Given the description of an element on the screen output the (x, y) to click on. 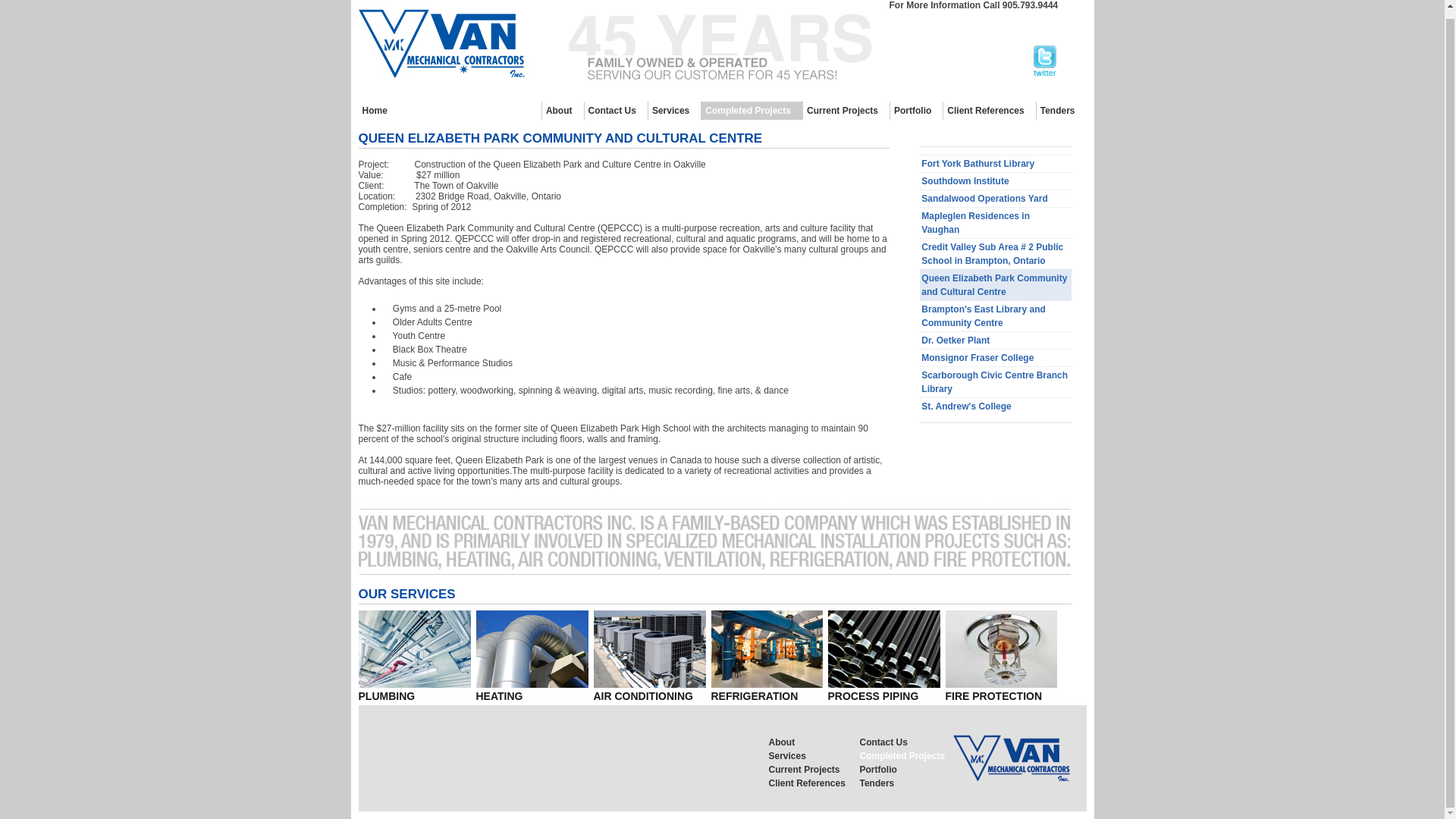
Scarborough Civic Centre Branch Library (995, 381)
Portfolio (915, 110)
Home (377, 110)
About (562, 110)
About (814, 742)
Client References (814, 783)
Fort York Bathurst Library (995, 162)
Monsignor Fraser College (995, 357)
Completed Projects (905, 755)
Portfolio (905, 769)
